Given the description of an element on the screen output the (x, y) to click on. 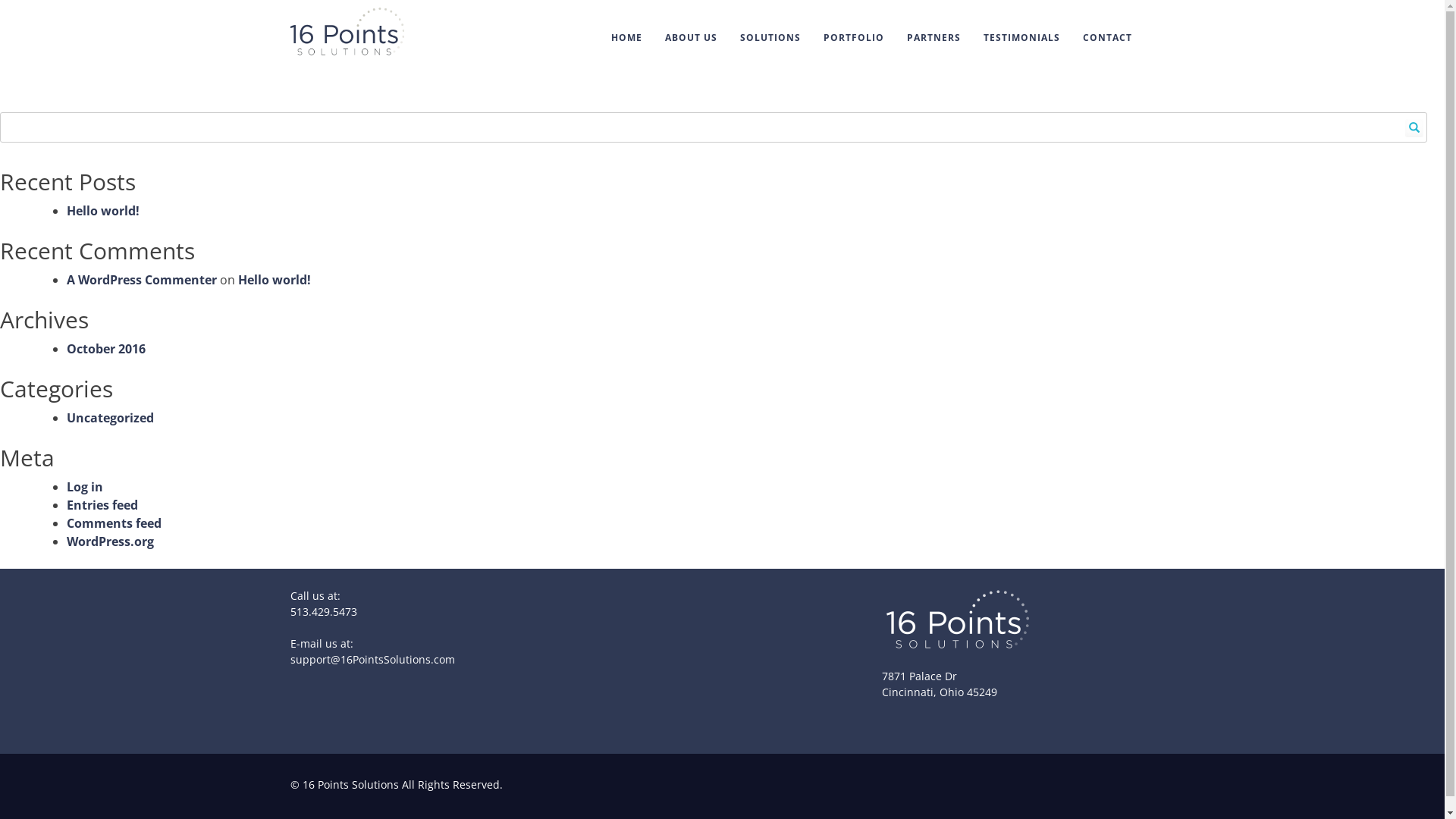
Hello world! Element type: text (102, 210)
ABOUT US Element type: text (690, 37)
HOME Element type: text (625, 37)
Uncategorized Element type: text (109, 417)
TESTIMONIALS Element type: text (1021, 37)
October 2016 Element type: text (105, 348)
SOLUTIONS Element type: text (769, 37)
Hello world! Element type: text (274, 279)
WordPress.org Element type: text (109, 541)
Entries feed Element type: text (102, 504)
A WordPress Commenter Element type: text (141, 279)
PARTNERS Element type: text (932, 37)
CONTACT Element type: text (1106, 37)
PORTFOLIO Element type: text (852, 37)
Comments feed Element type: text (113, 522)
Log in Element type: text (84, 486)
